Given the description of an element on the screen output the (x, y) to click on. 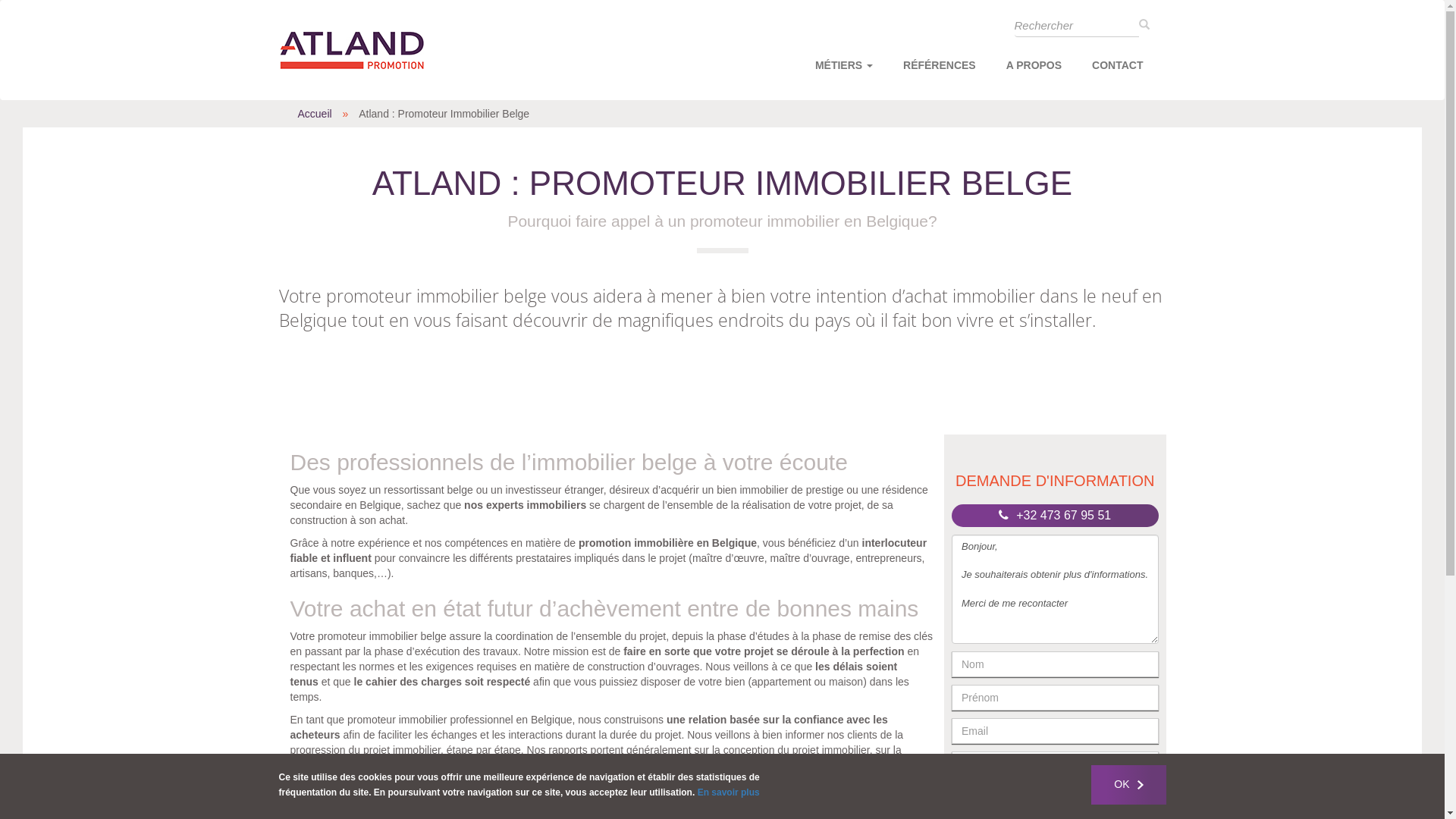
A PROPOS Element type: text (1033, 67)
OK Element type: text (1128, 784)
En savoir plus Element type: text (728, 792)
CONTACT Element type: text (1116, 67)
Aller au contenu principal Element type: text (0, 0)
Rechercher Element type: text (1166, 37)
+32 473 67 95 51 Element type: text (1054, 514)
Accueil Element type: text (314, 113)
Accueil Element type: hover (357, 50)
